Given the description of an element on the screen output the (x, y) to click on. 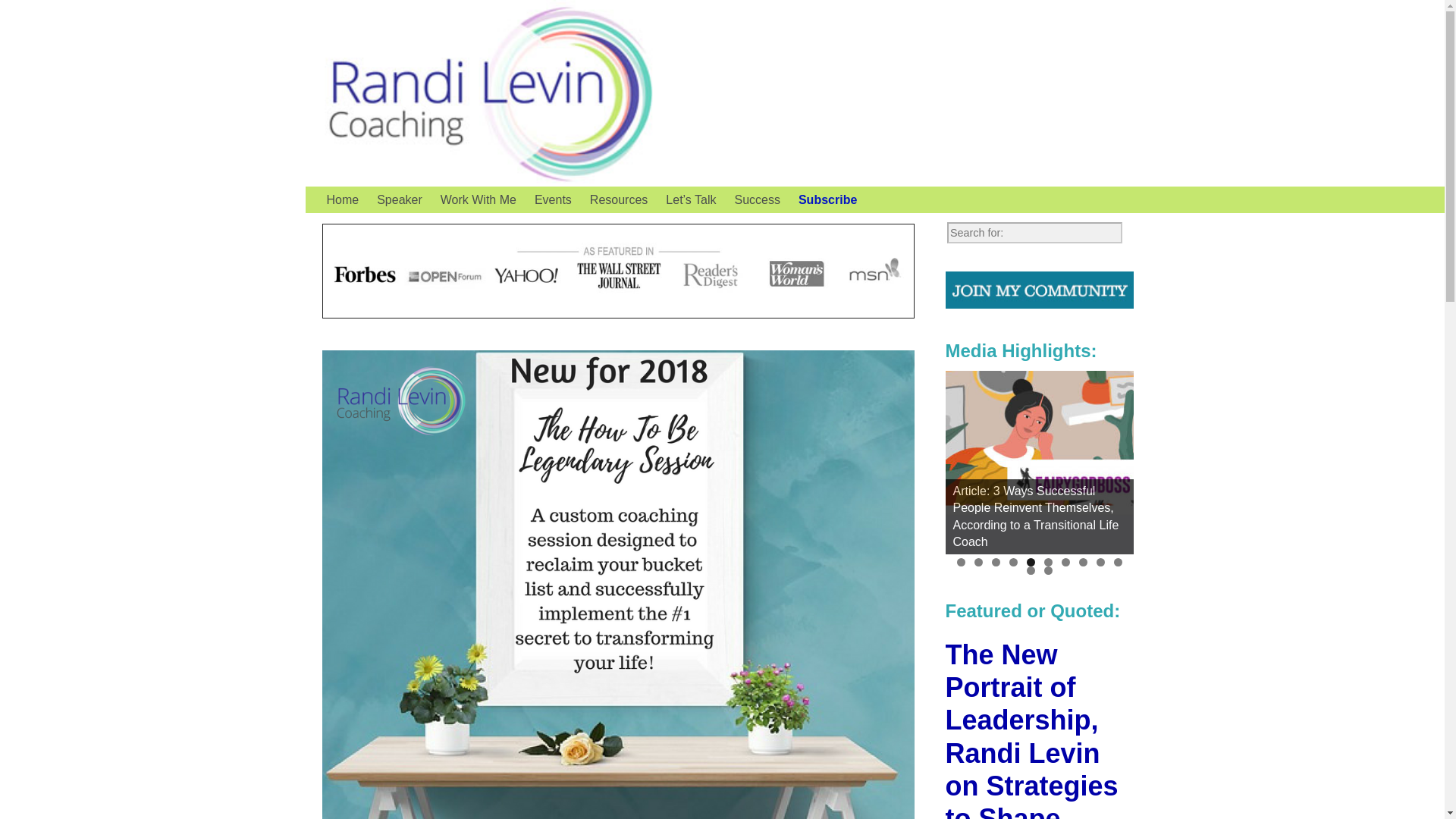
Subscribe (827, 199)
Events (552, 199)
Home (342, 199)
Speaker (399, 199)
Resources (618, 199)
Success (757, 199)
Work With Me (477, 199)
